Given the description of an element on the screen output the (x, y) to click on. 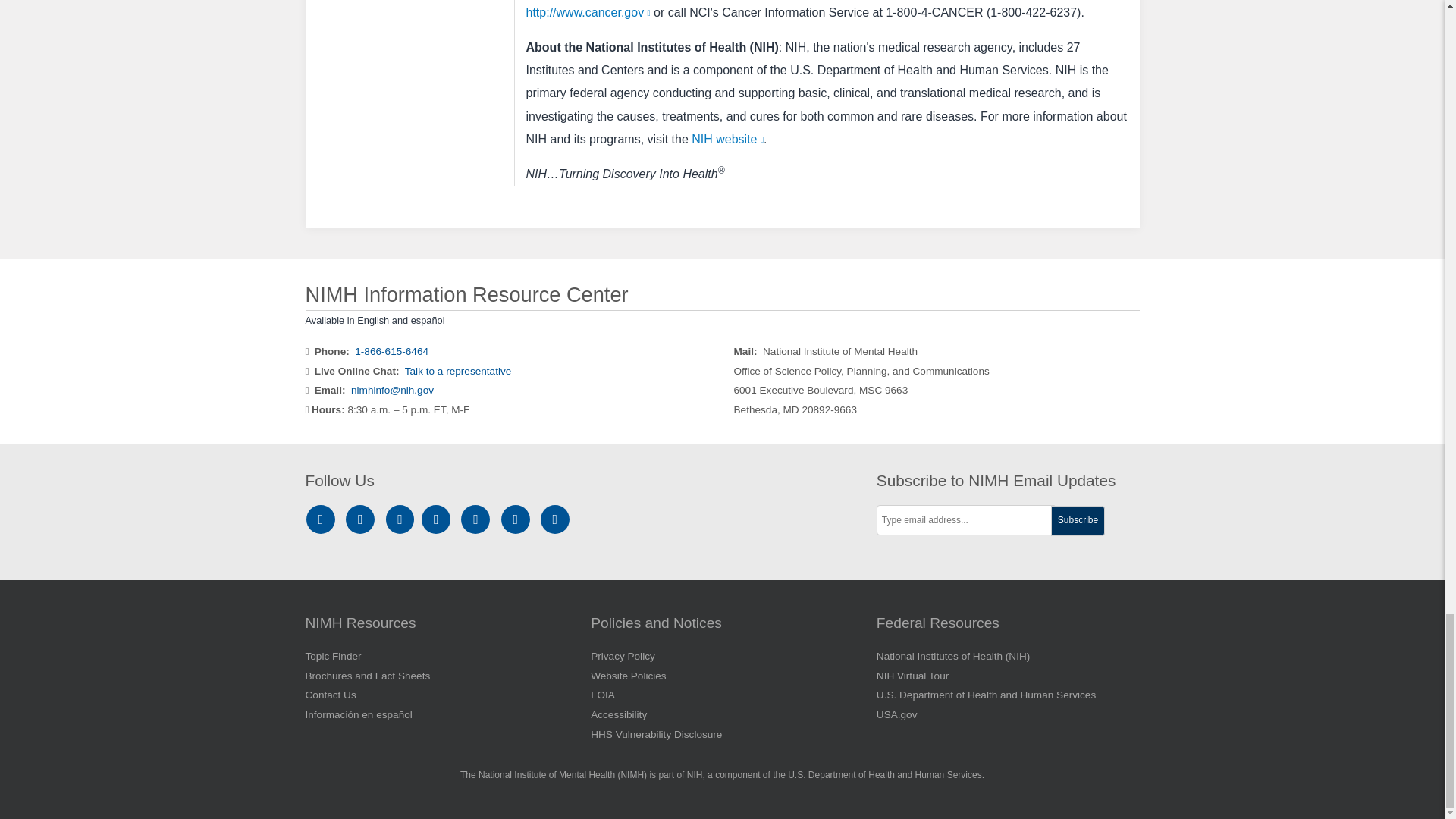
NIMH YouTube (478, 519)
NIMH News Feeds (555, 519)
NIMH LinkedIn (402, 519)
Subscribe (1078, 521)
National Institutes of Health (536, 138)
NIMH Newsletters (515, 519)
NIMH Facebook (363, 519)
NIMH Twitter (438, 519)
NIMH Instagram (322, 519)
